Given the description of an element on the screen output the (x, y) to click on. 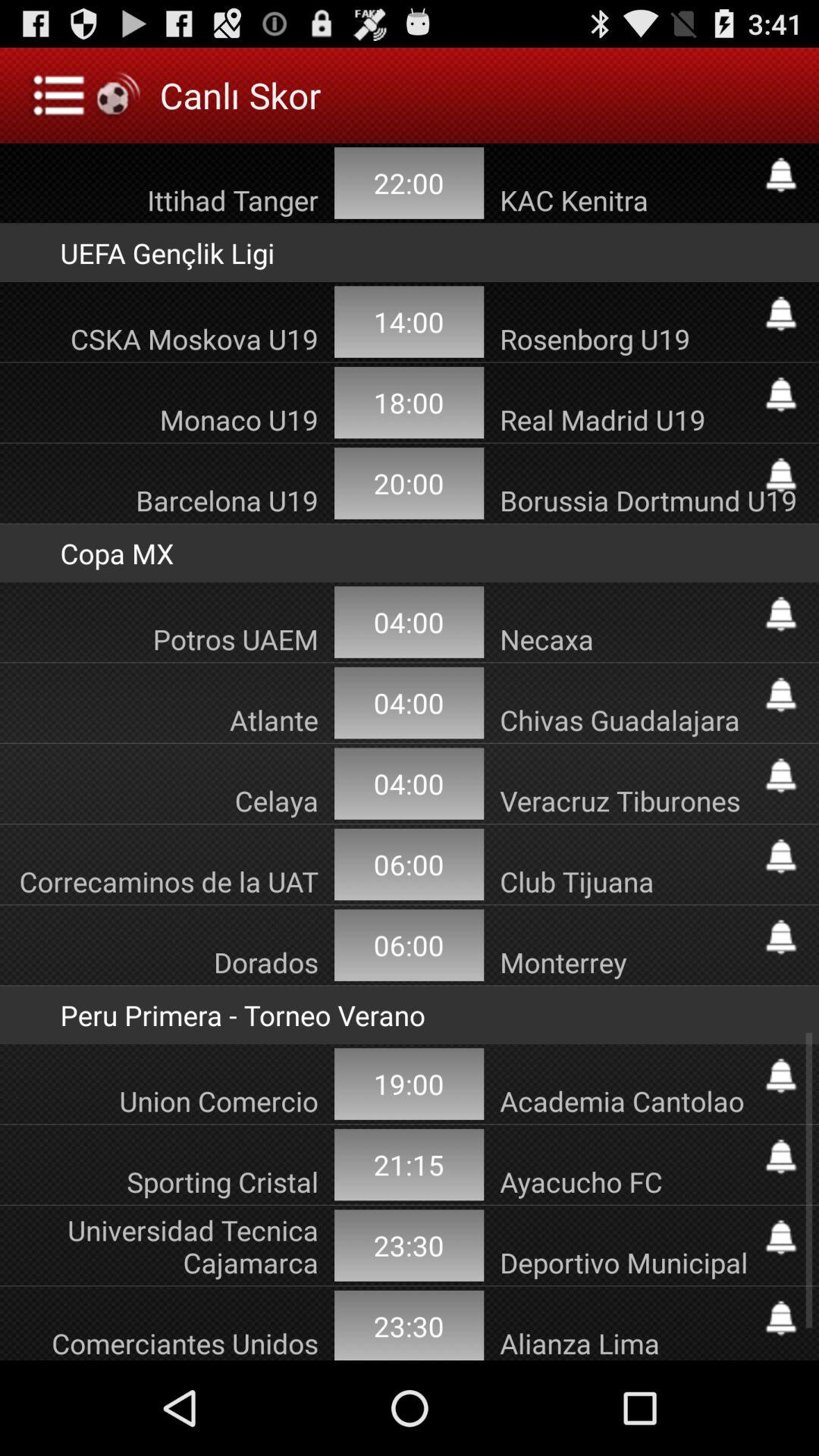
bell icon (780, 614)
